Given the description of an element on the screen output the (x, y) to click on. 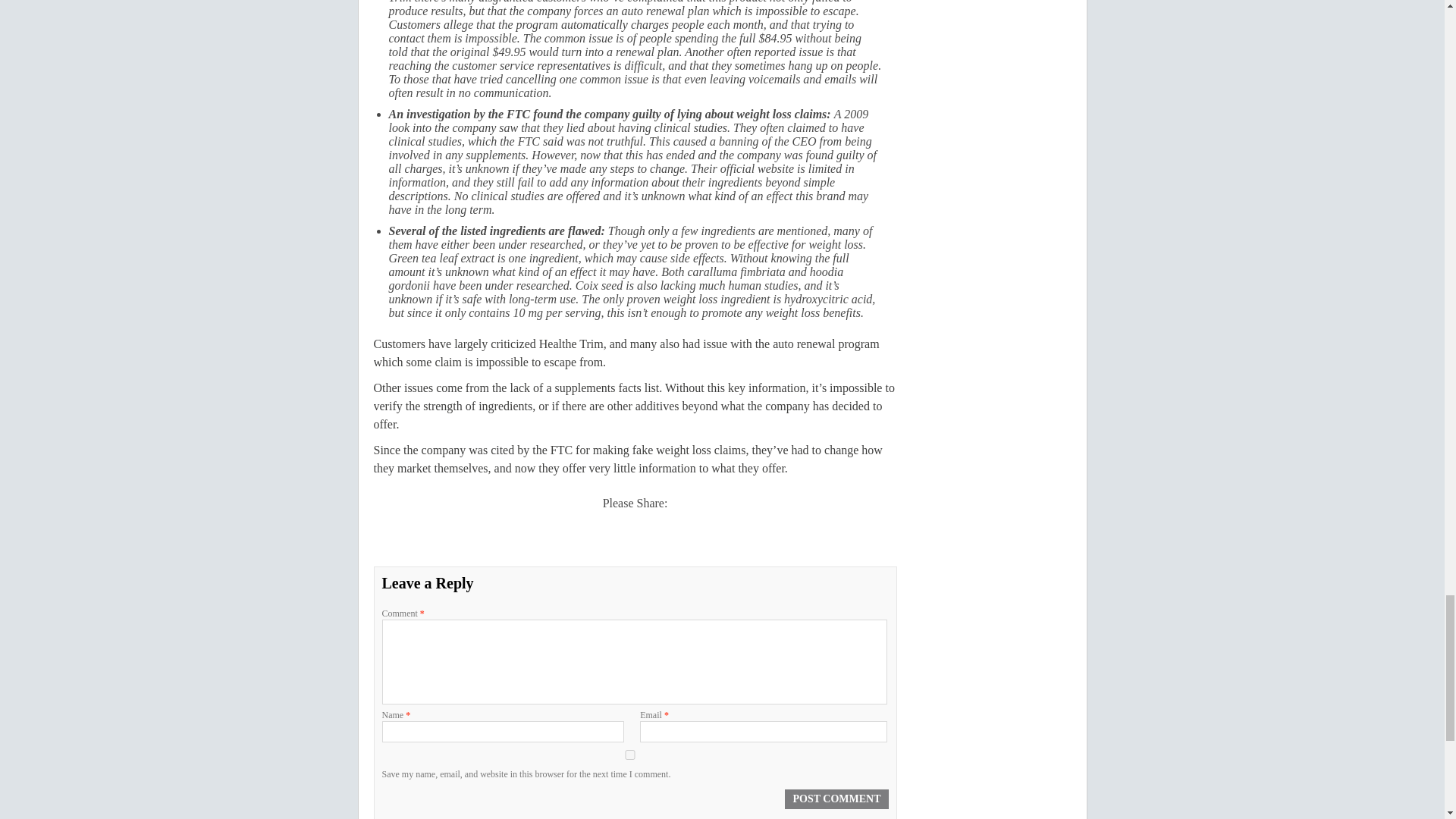
Post Comment (836, 799)
yes (630, 755)
Post Comment (836, 799)
